Given the description of an element on the screen output the (x, y) to click on. 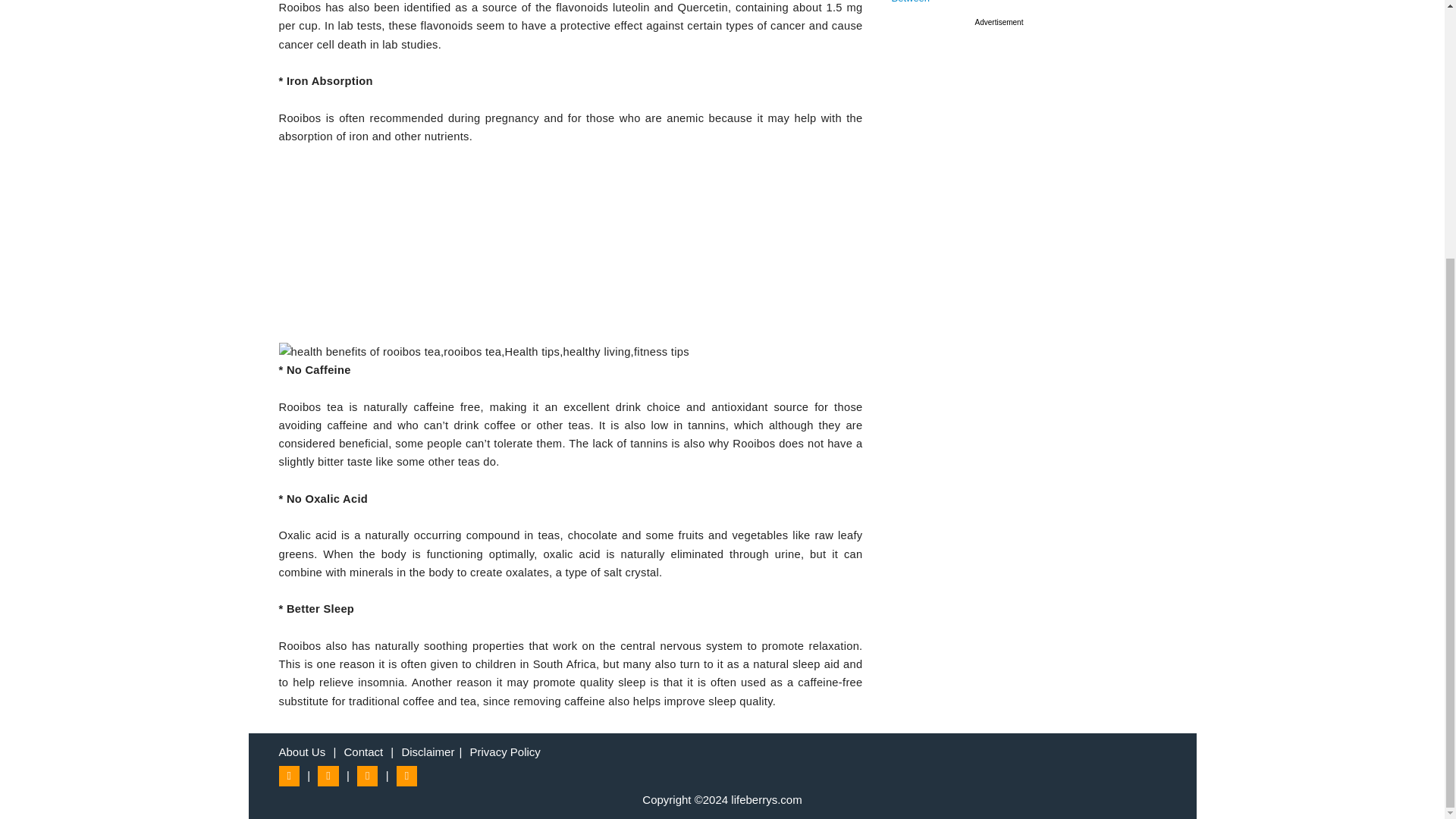
Privacy Policy (505, 751)
Contact (362, 751)
Disclaimer (427, 751)
About Us (302, 751)
